Given the description of an element on the screen output the (x, y) to click on. 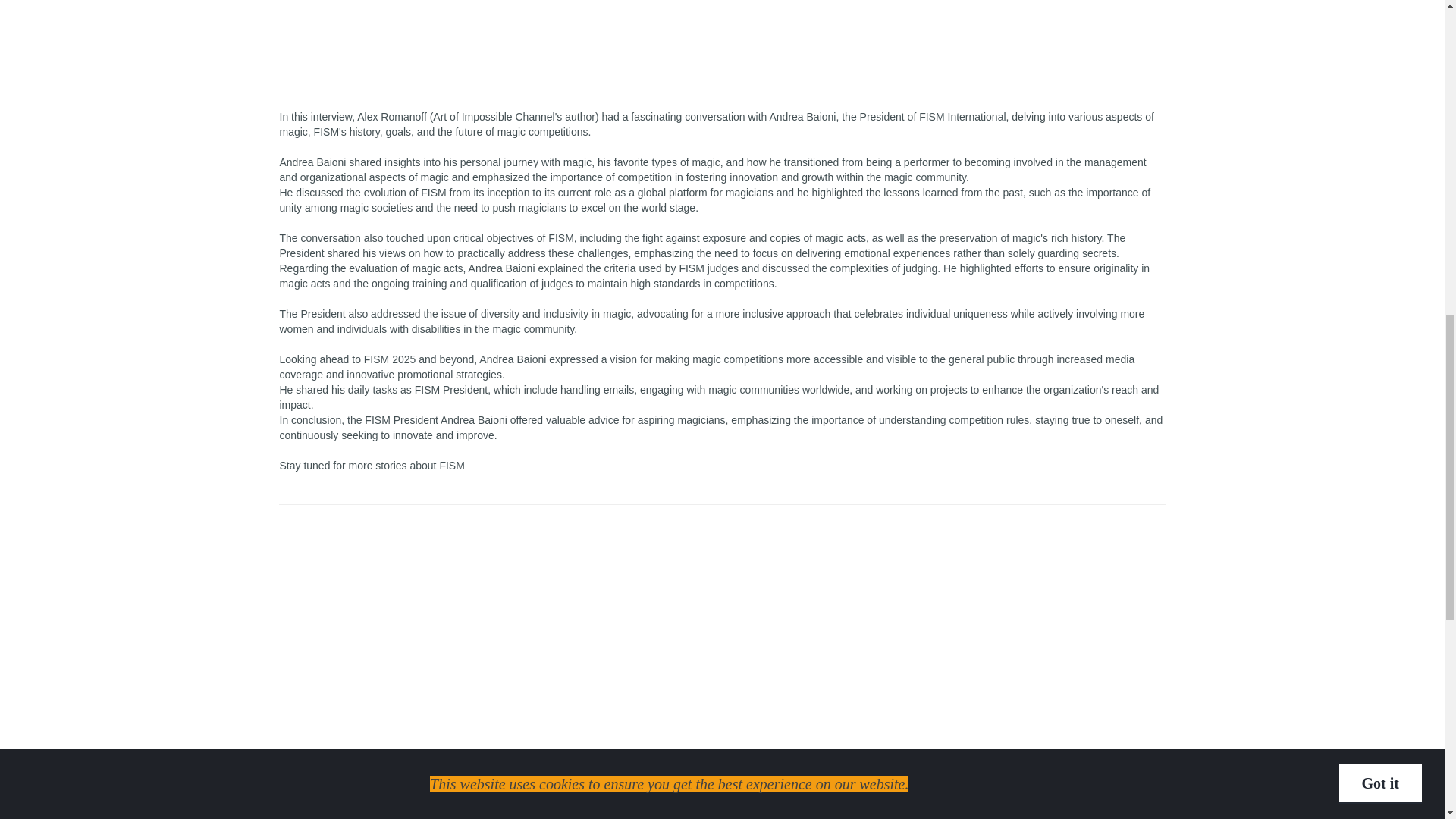
YouTube video player (722, 39)
